Given the description of an element on the screen output the (x, y) to click on. 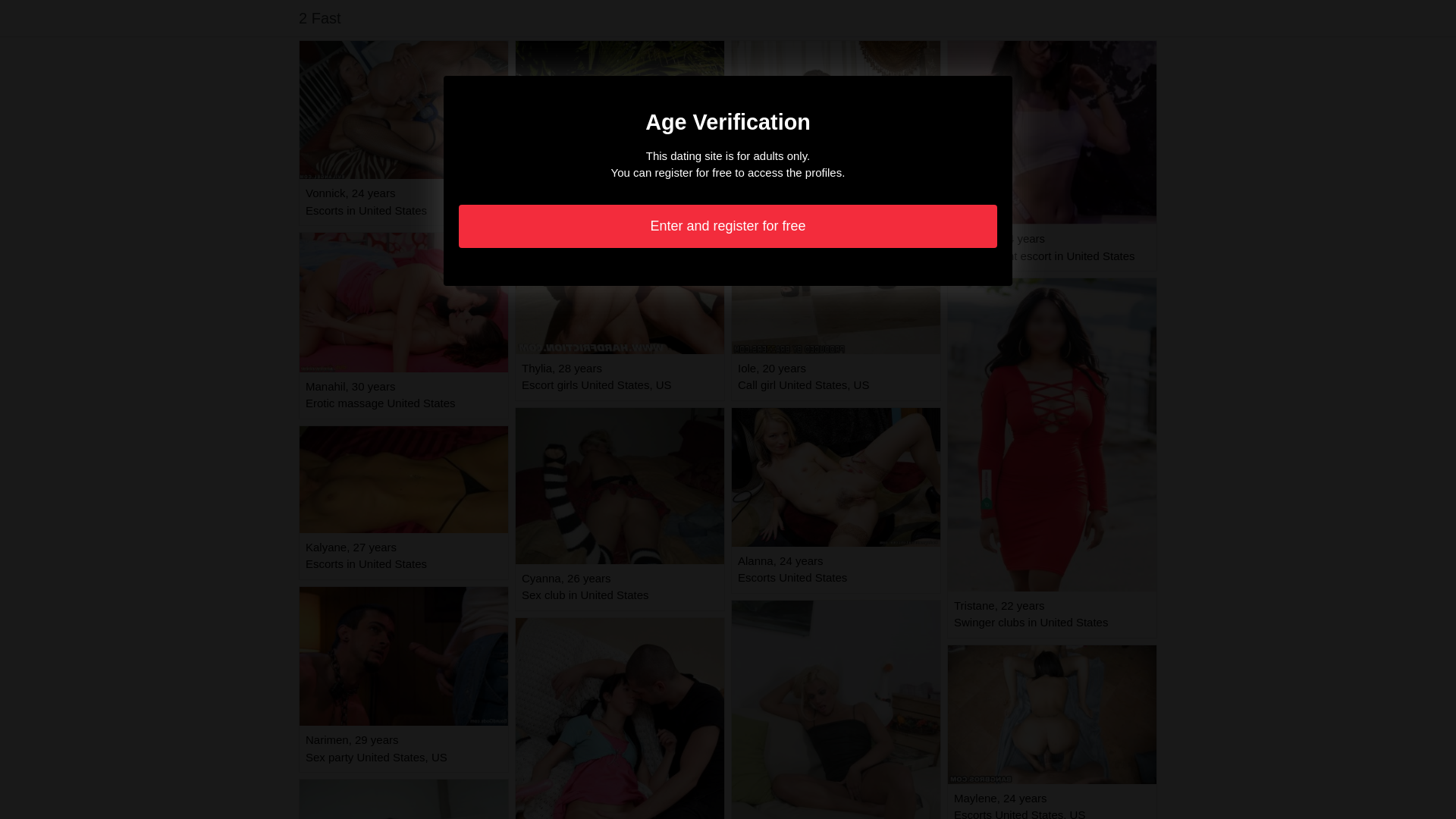
Enter and register for free Element type: text (727, 225)
2 Fast Element type: text (319, 18)
